Given the description of an element on the screen output the (x, y) to click on. 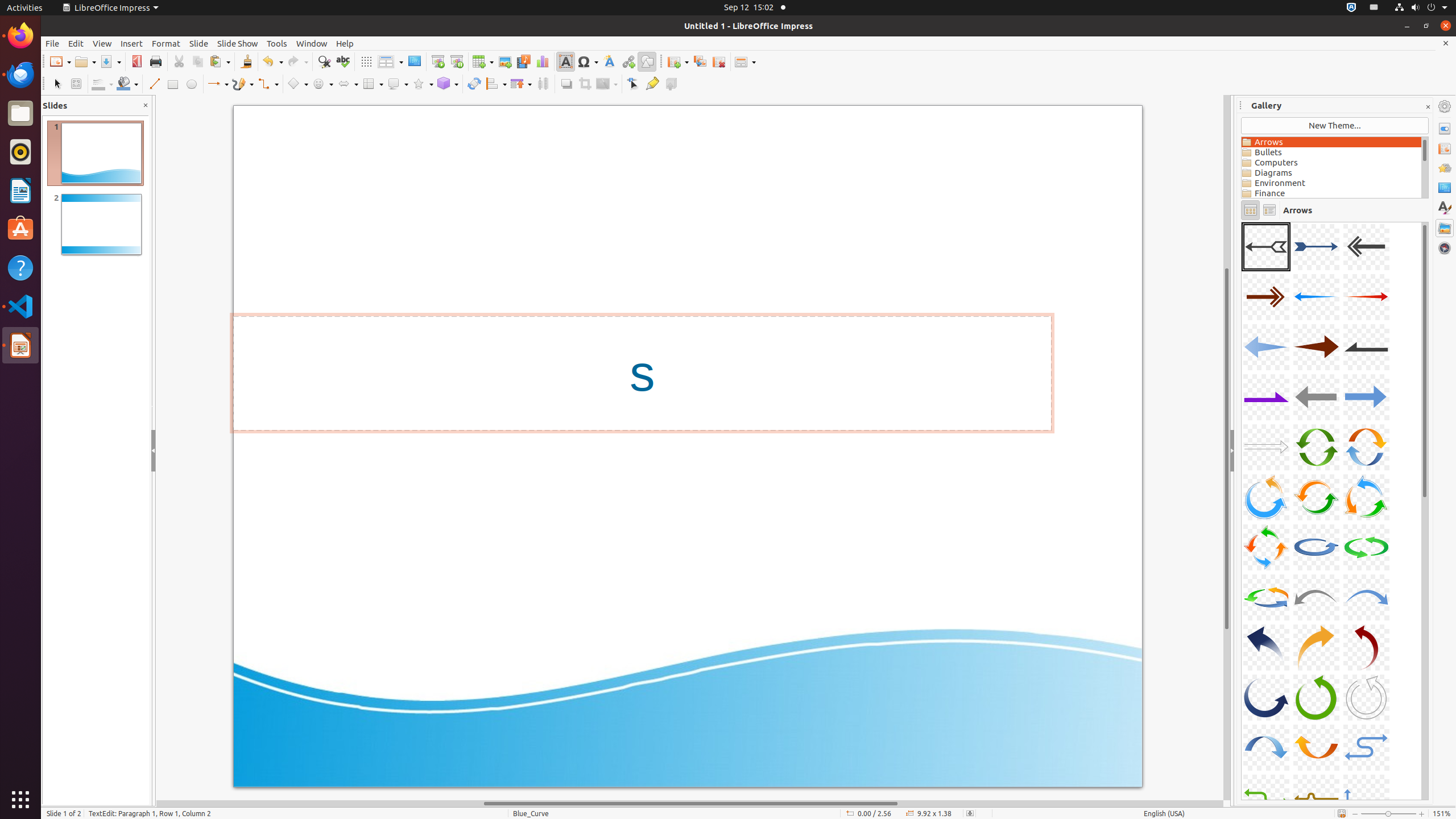
System Element type: menu (1420, 7)
Paste Element type: push-button (219, 61)
Basic Shapes Element type: push-button (296, 83)
A03-Arrow-Gray-Left Element type: list-item (1365, 246)
Vertical scroll bar Element type: scroll-bar (1226, 447)
